Given the description of an element on the screen output the (x, y) to click on. 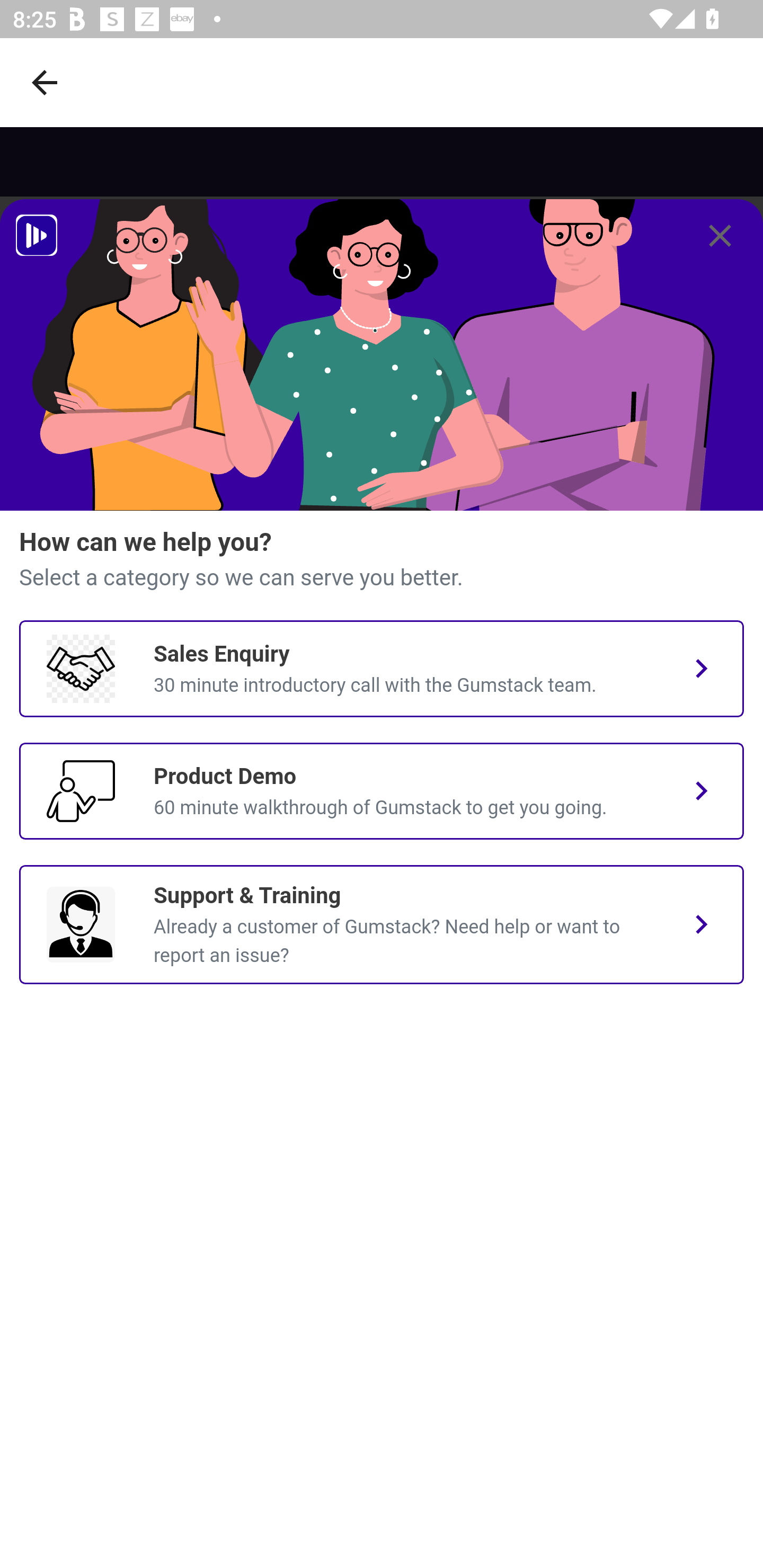
Navigate up (44, 82)
clear (720, 235)
